Given the description of an element on the screen output the (x, y) to click on. 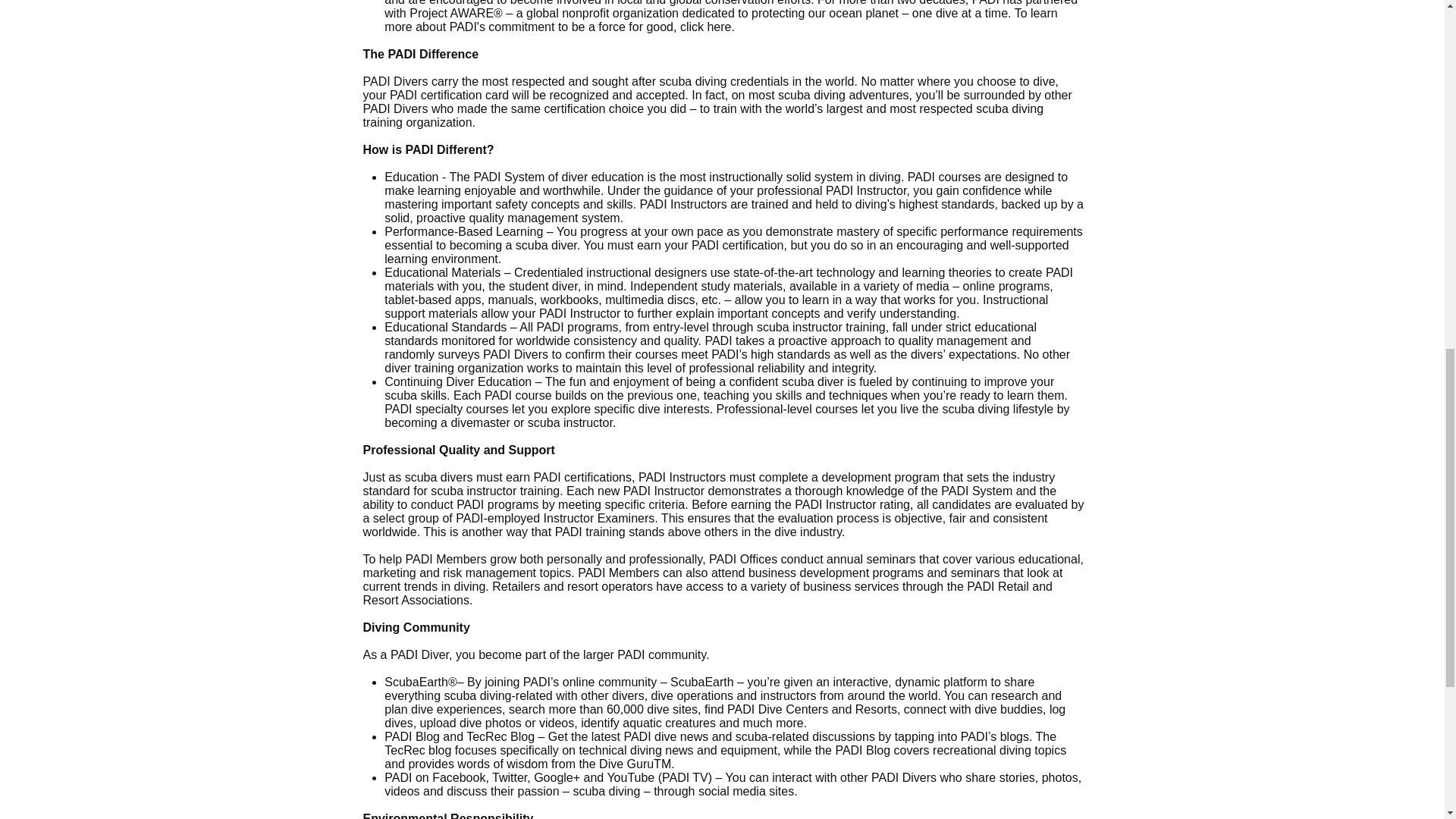
PADI Blog (411, 736)
Twitter (509, 777)
Facebook (458, 777)
click here (705, 26)
TecRec Blog (499, 736)
